Given the description of an element on the screen output the (x, y) to click on. 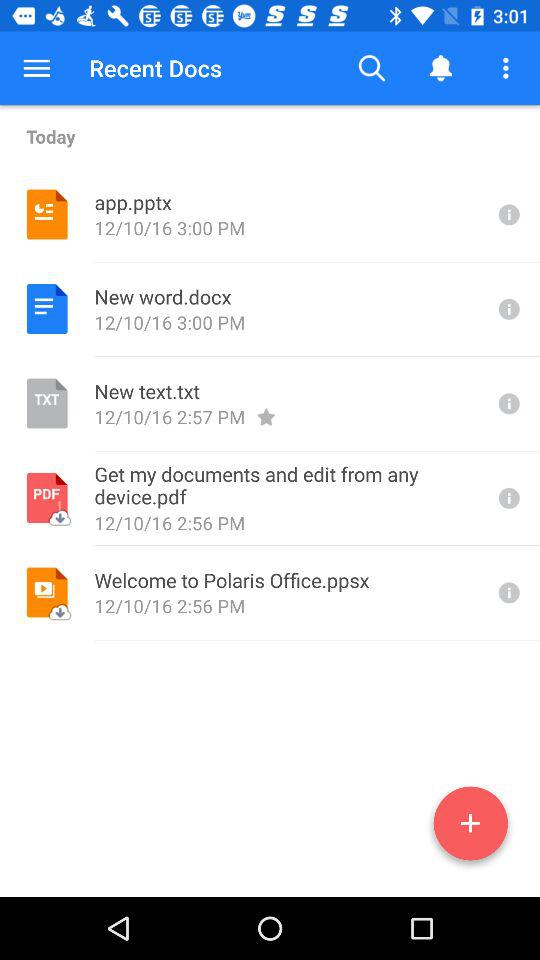
search any one (507, 497)
